Given the description of an element on the screen output the (x, y) to click on. 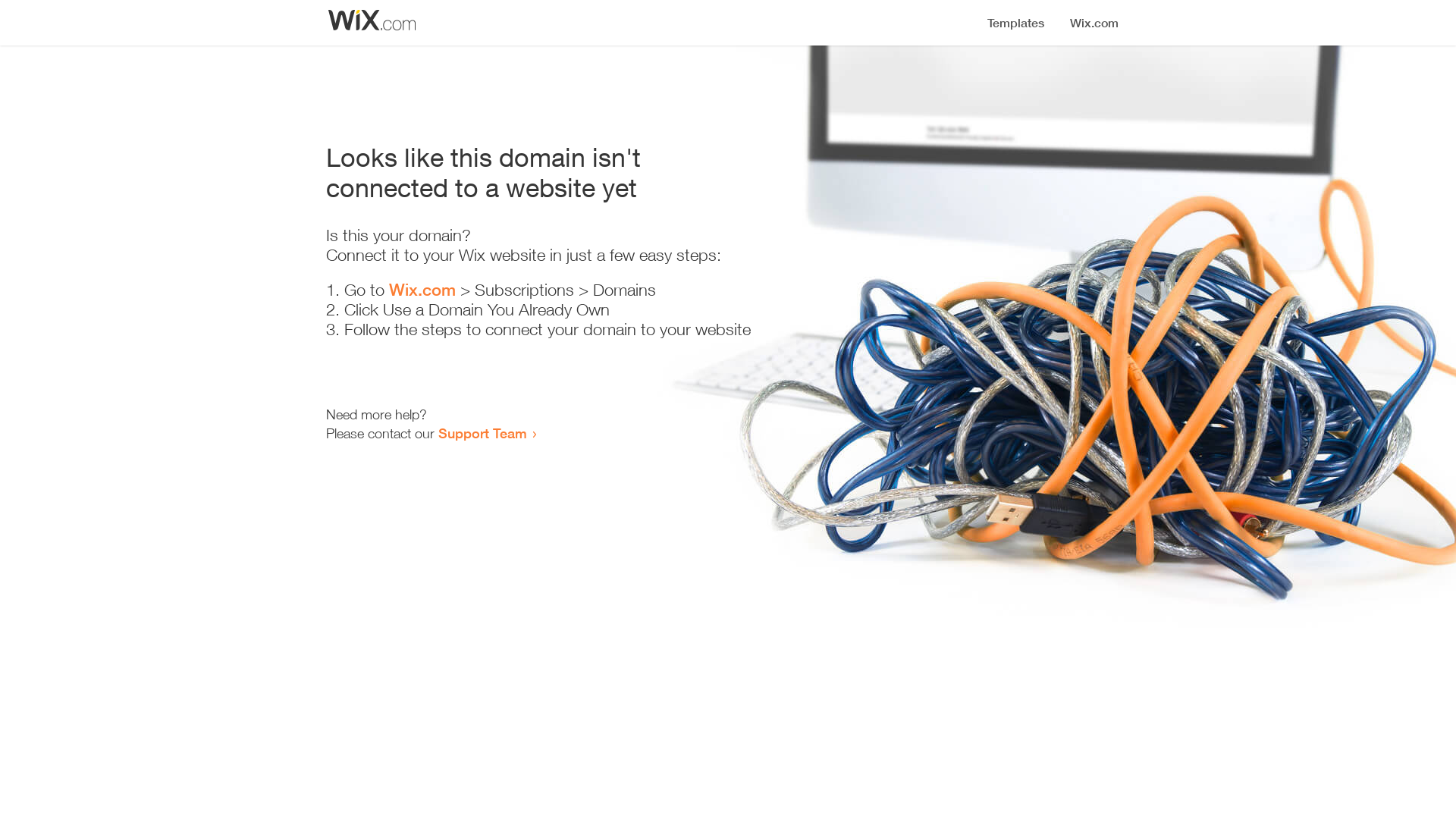
Support Team Element type: text (482, 432)
Wix.com Element type: text (422, 289)
